Given the description of an element on the screen output the (x, y) to click on. 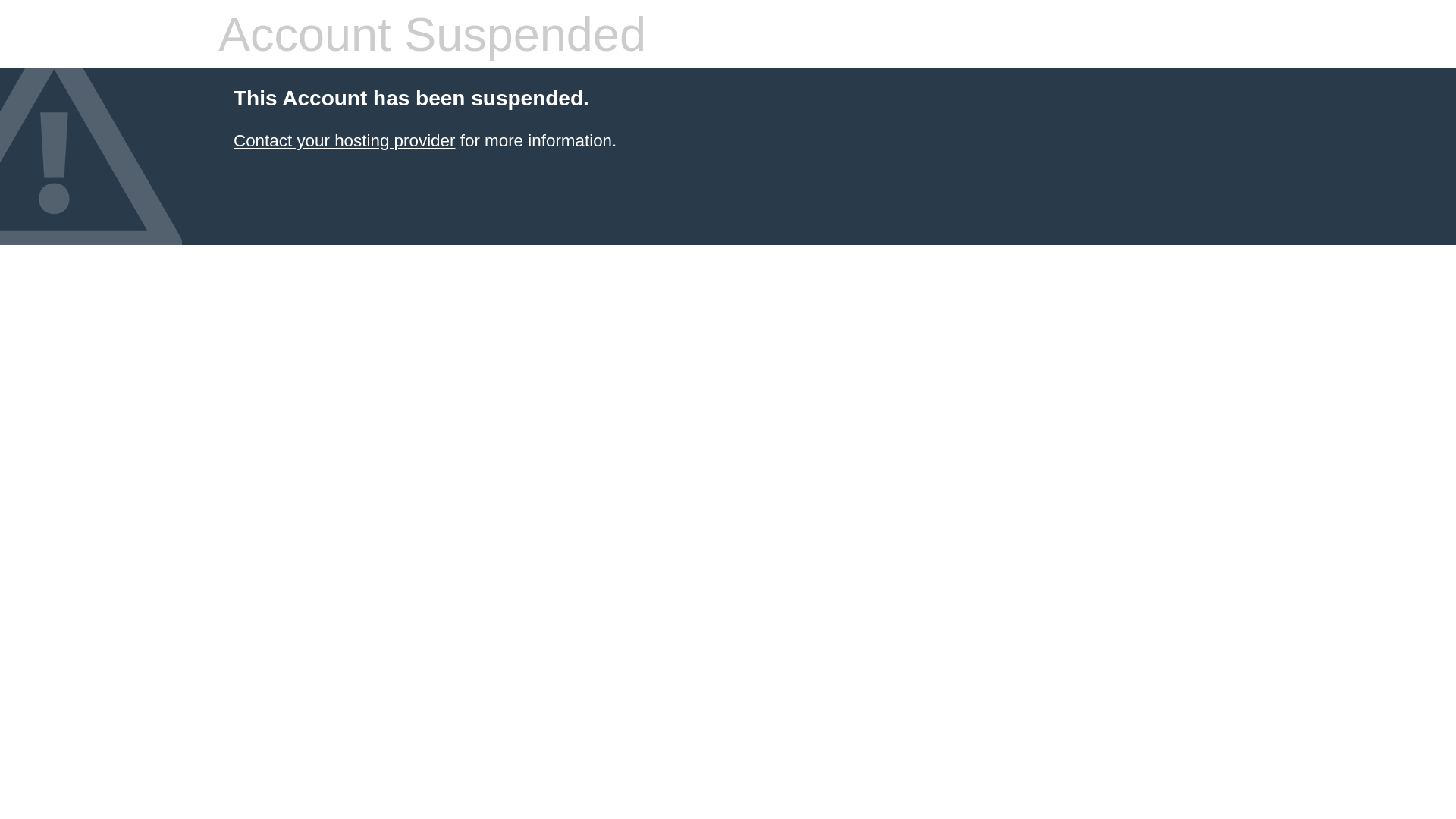
Contact your hosting provider Element type: text (344, 140)
